Given the description of an element on the screen output the (x, y) to click on. 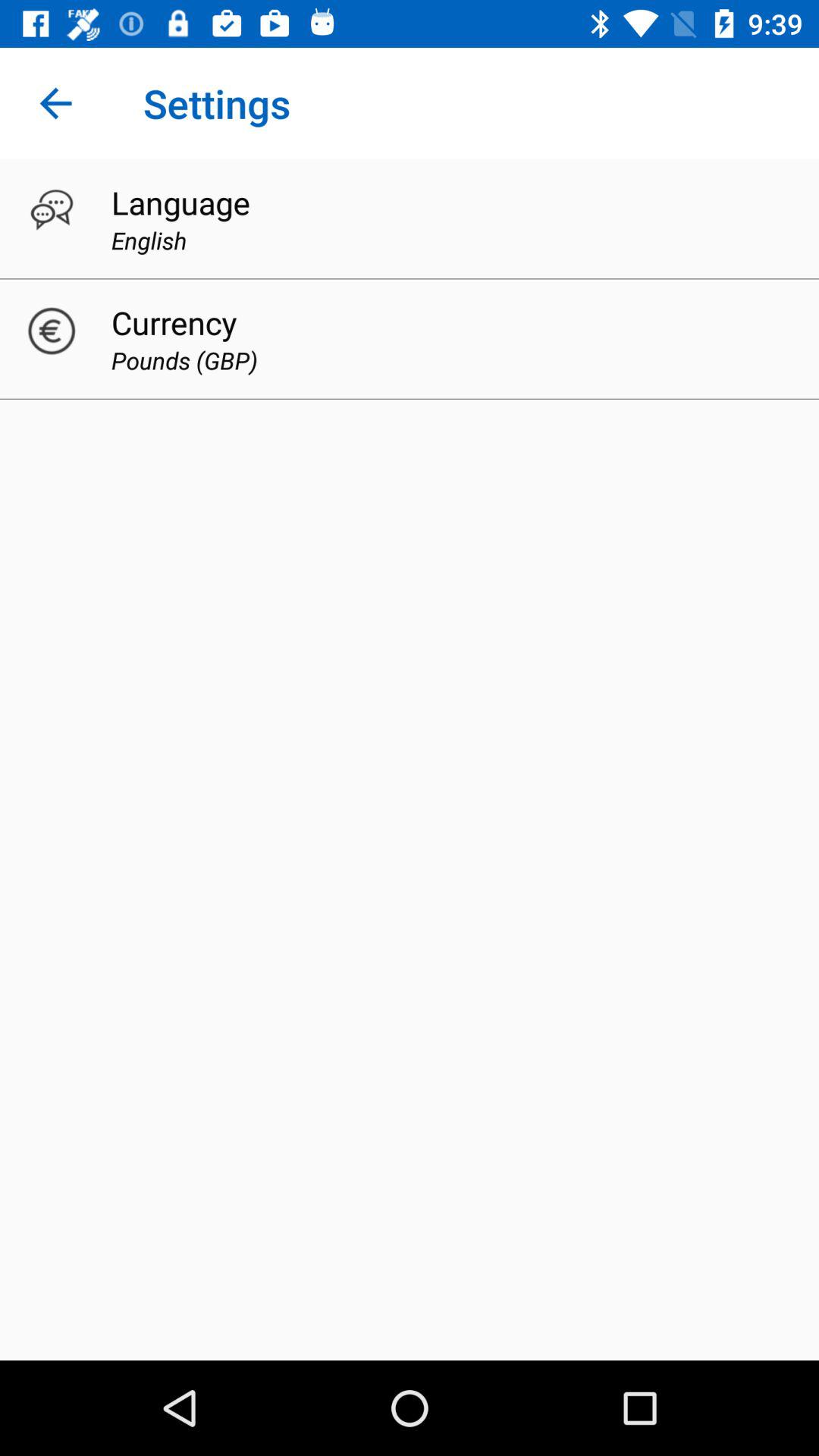
press the icon above the currency (149, 240)
